Given the description of an element on the screen output the (x, y) to click on. 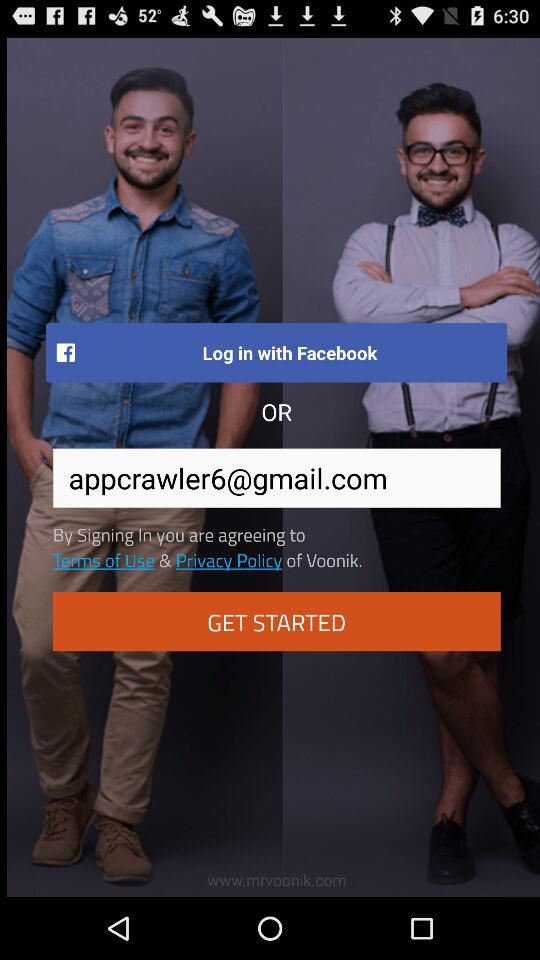
click log in with item (276, 352)
